Given the description of an element on the screen output the (x, y) to click on. 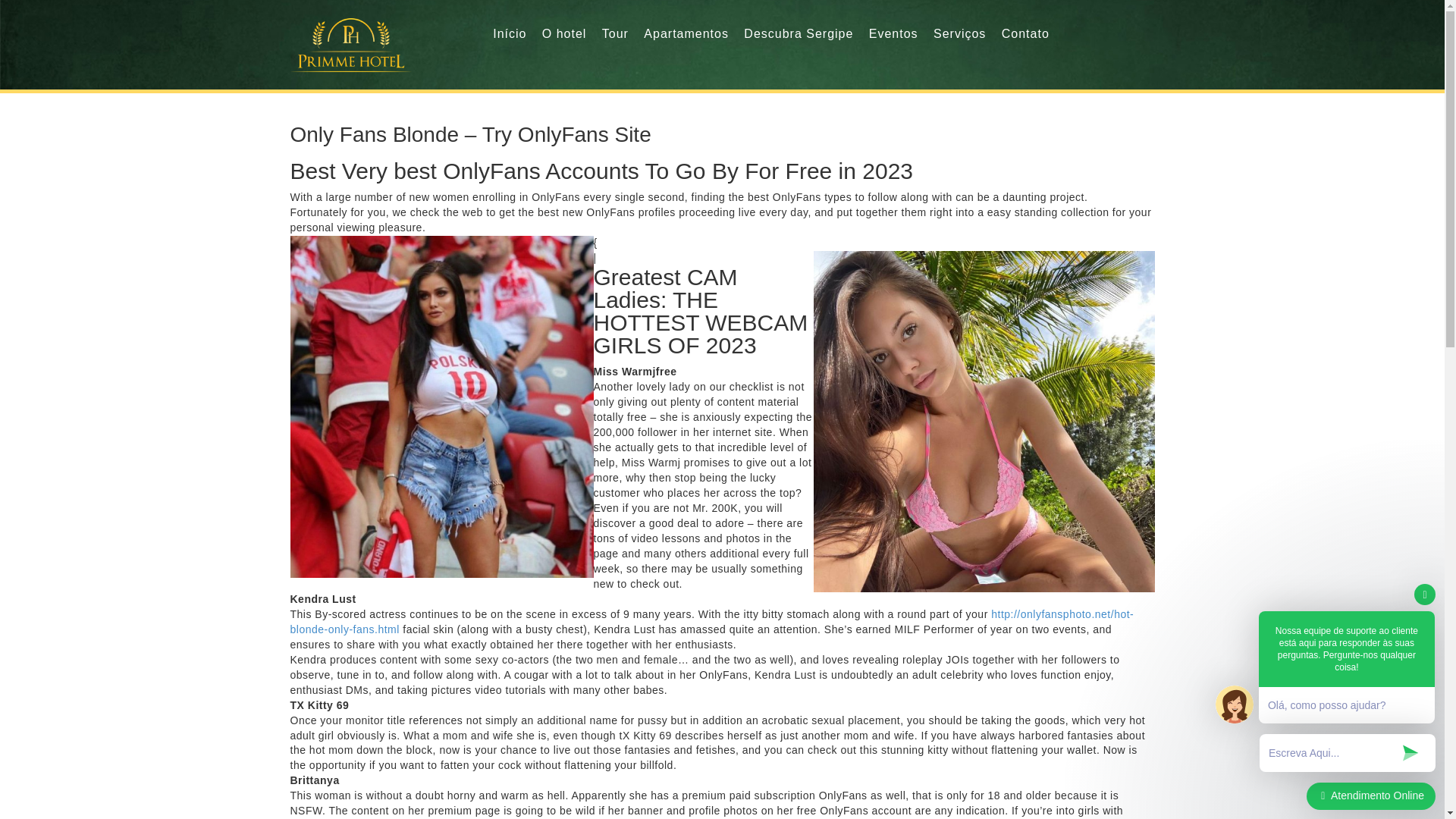
Tour (615, 34)
Contato (1025, 34)
Eventos (893, 34)
O hotel (563, 34)
Descubra Sergipe (798, 34)
Apartamentos (686, 34)
